Given the description of an element on the screen output the (x, y) to click on. 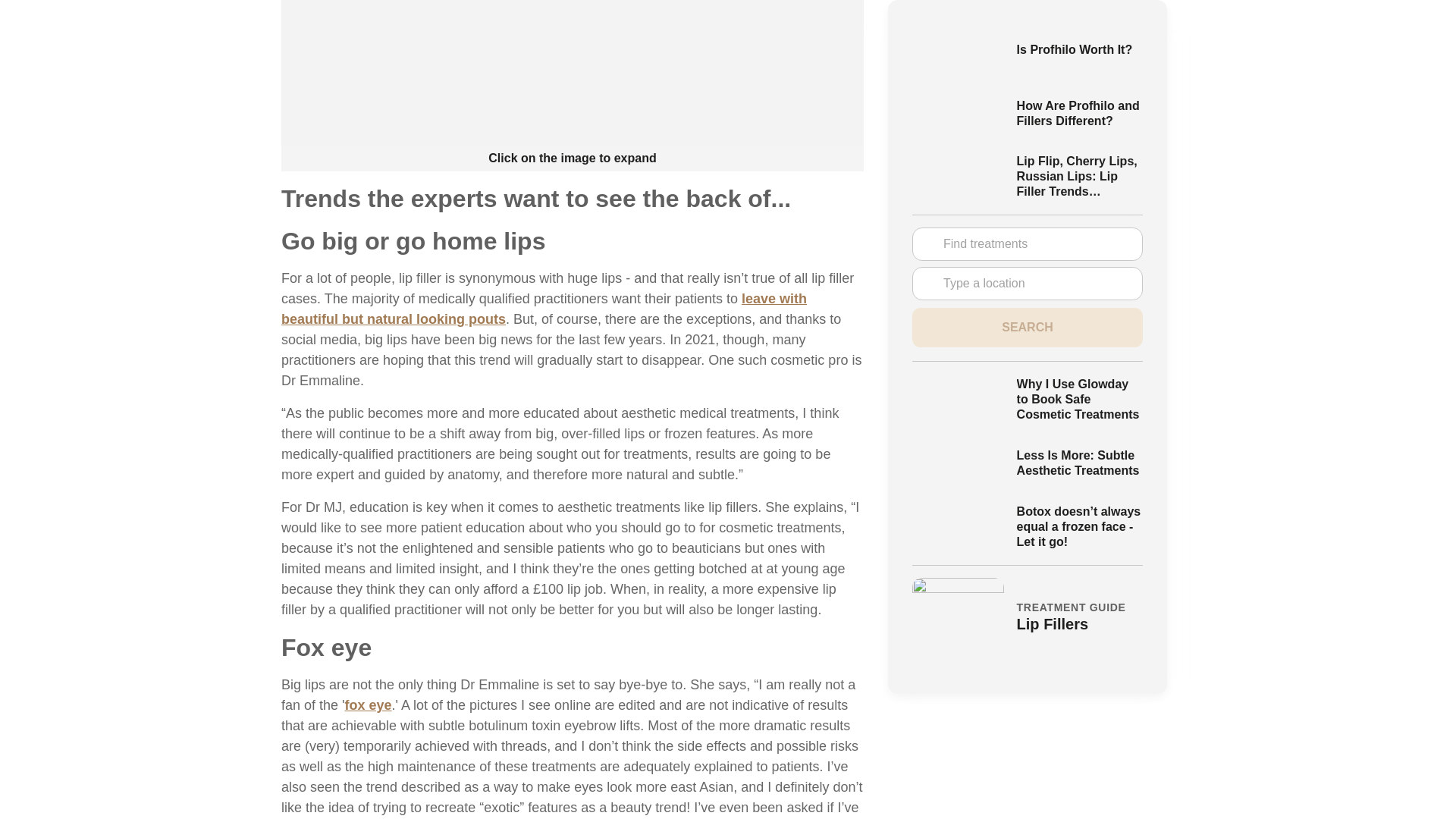
leave with beautiful but natural looking pouts (543, 308)
fox eye (367, 704)
expand the image (572, 72)
